Given the description of an element on the screen output the (x, y) to click on. 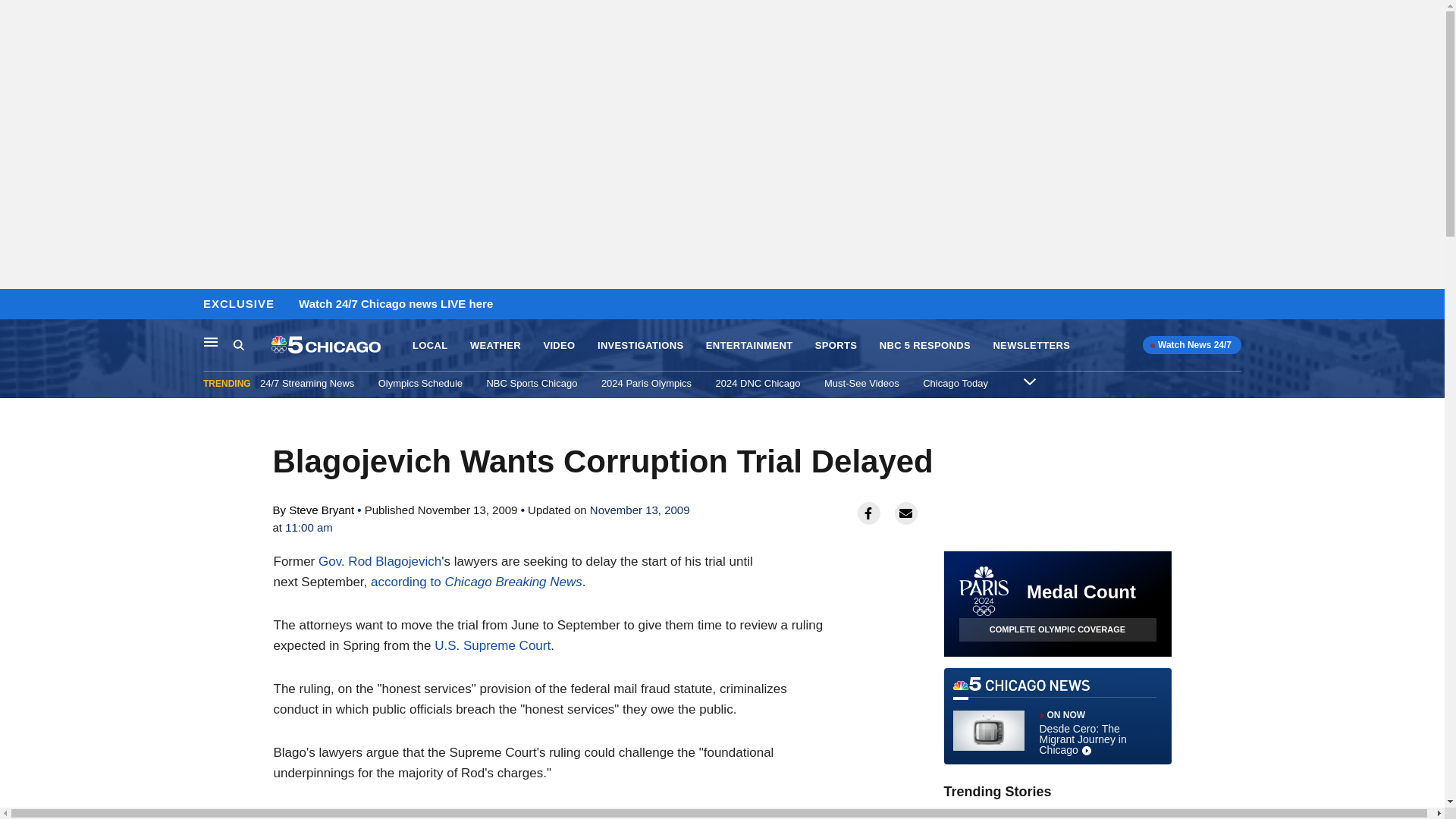
COMPLETE OLYMPIC COVERAGE (1057, 629)
Must-See Videos (861, 383)
Chicago Today (955, 383)
INVESTIGATIONS (639, 345)
VIDEO (559, 345)
Skip to content (16, 304)
DIVING (1034, 814)
Gov. Rod Blagojevich (1056, 716)
according to Chicago Breaking News (379, 561)
U.S. Supreme Court (476, 581)
Rod Blagojevich (491, 645)
U.S. Supreme Court (379, 561)
2024 Paris Olympics (491, 645)
ENTERTAINMENT (646, 383)
